Given the description of an element on the screen output the (x, y) to click on. 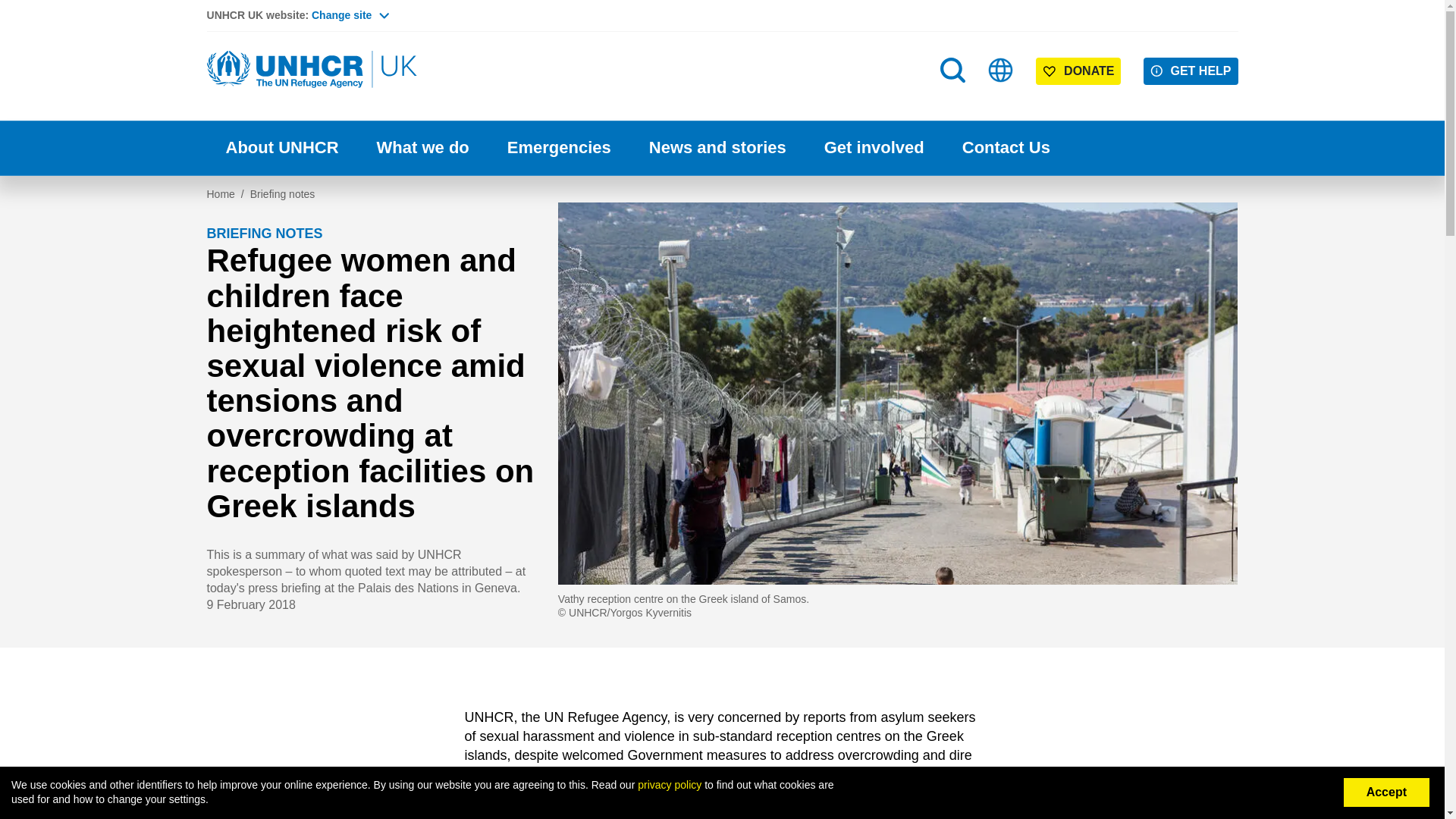
About UNHCR (281, 148)
GET HELP (1189, 71)
Change site (349, 15)
DONATE (1078, 71)
Skip to main content (721, 1)
Search (952, 69)
Home (312, 69)
Search (954, 99)
Sites (1000, 69)
